Given the description of an element on the screen output the (x, y) to click on. 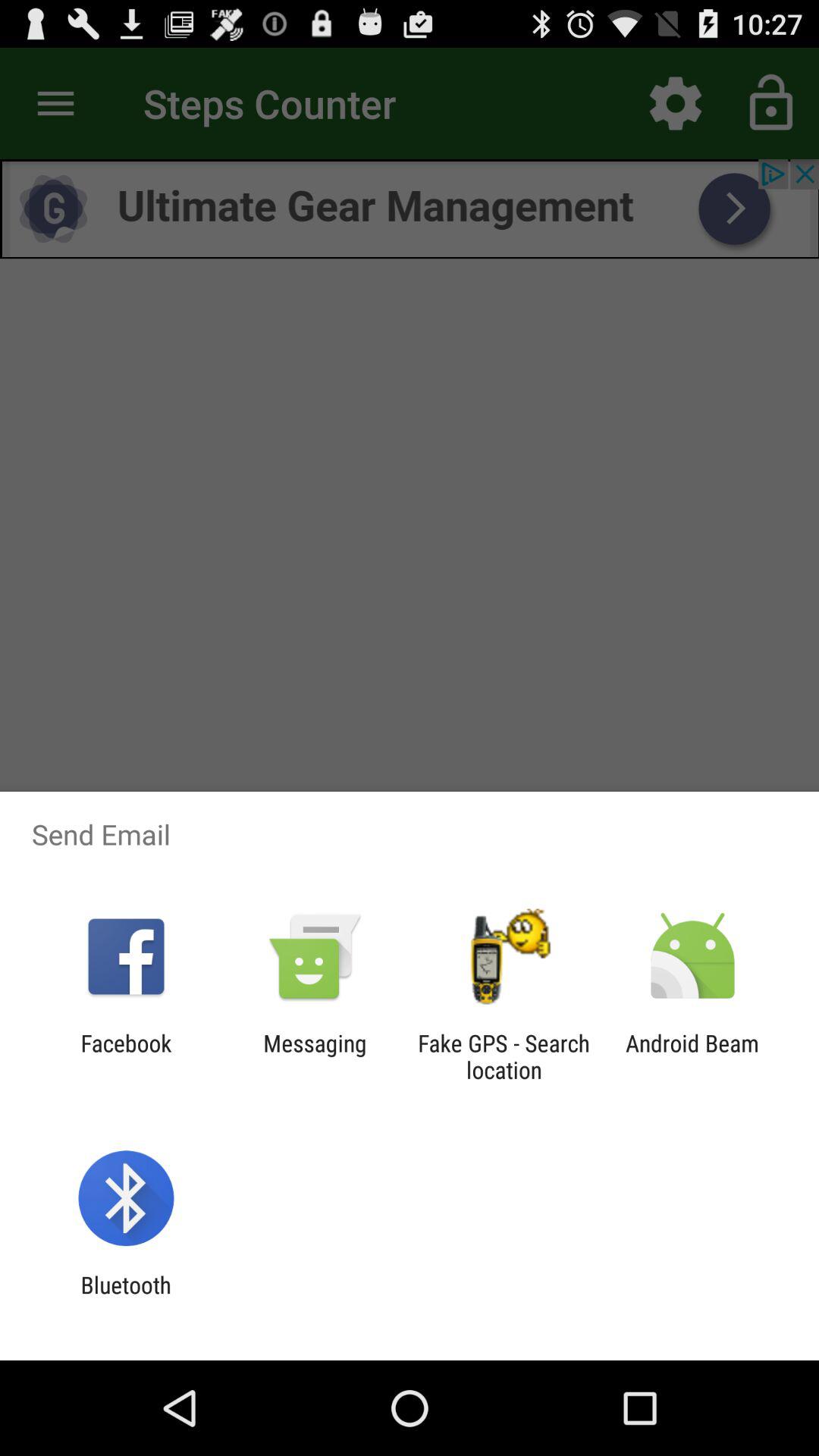
swipe to fake gps search (503, 1056)
